Given the description of an element on the screen output the (x, y) to click on. 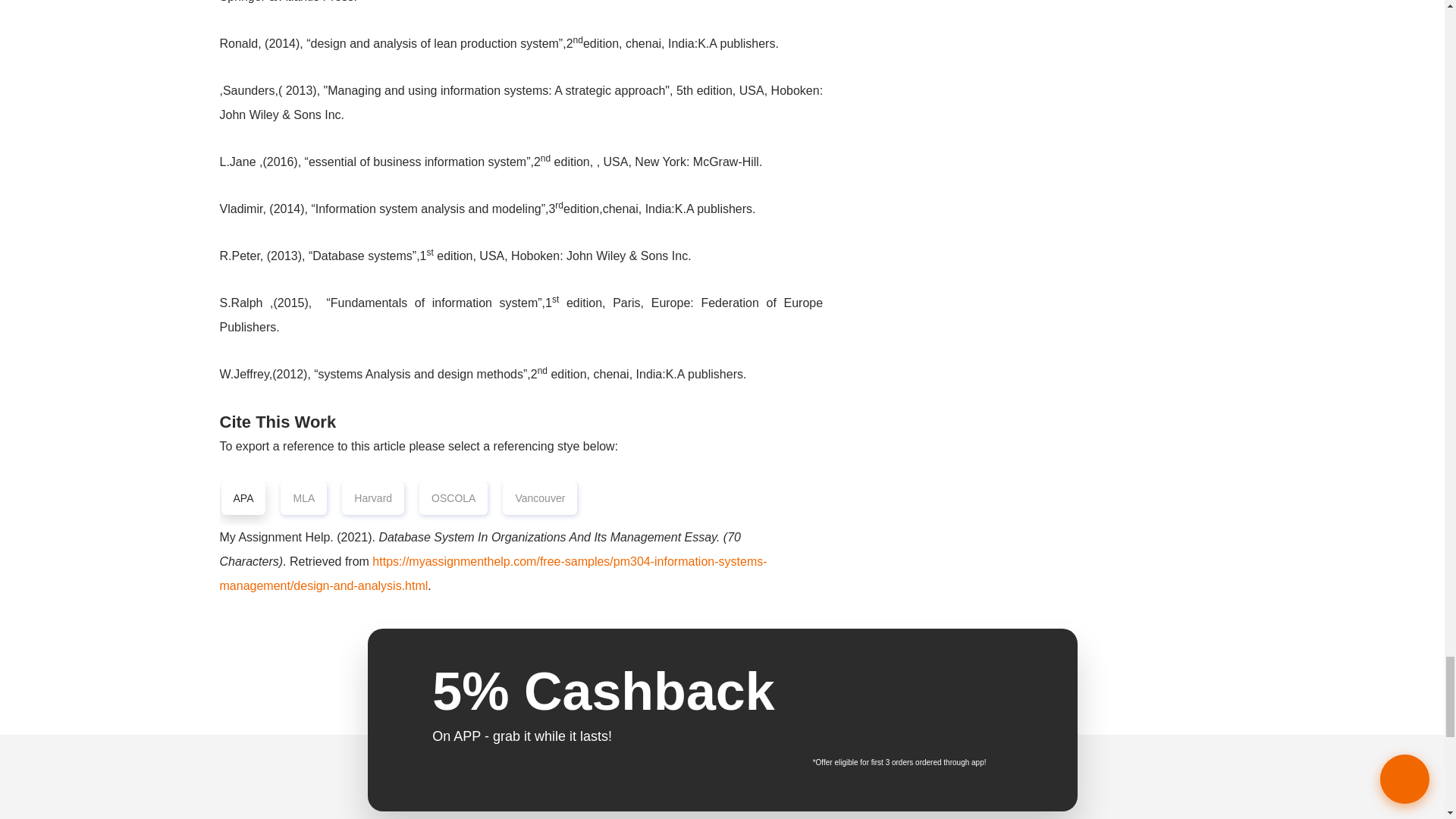
app-store (858, 686)
google-pay (858, 727)
qrcode (973, 710)
pataka (721, 796)
